Given the description of an element on the screen output the (x, y) to click on. 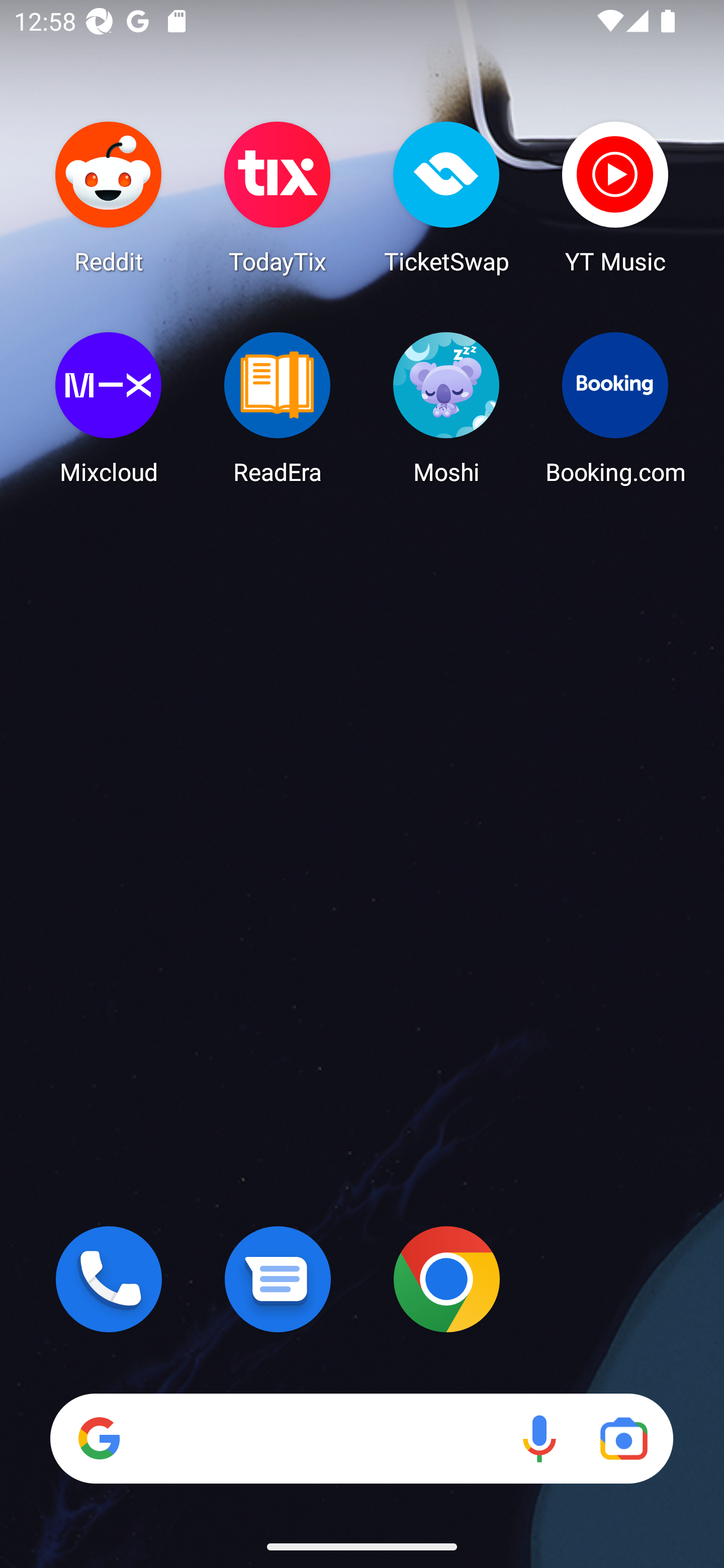
Reddit (108, 196)
TodayTix (277, 196)
TicketSwap (445, 196)
YT Music (615, 196)
Mixcloud (108, 407)
ReadEra (277, 407)
Moshi (445, 407)
Booking.com (615, 407)
Phone (108, 1279)
Messages (277, 1279)
Chrome (446, 1279)
Search Voice search Google Lens (361, 1438)
Voice search (539, 1438)
Google Lens (623, 1438)
